Given the description of an element on the screen output the (x, y) to click on. 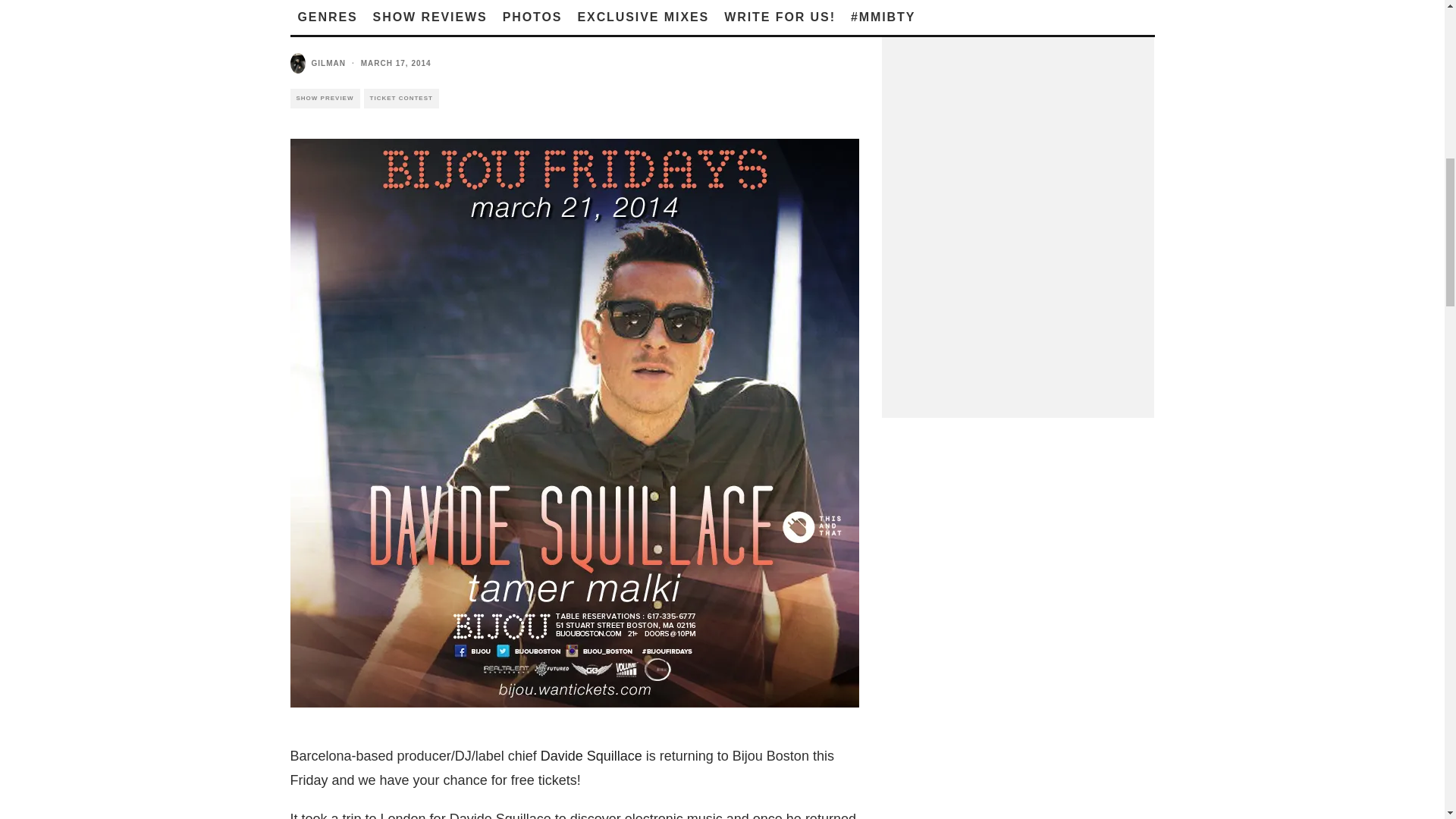
Advertisement (1017, 193)
